Given the description of an element on the screen output the (x, y) to click on. 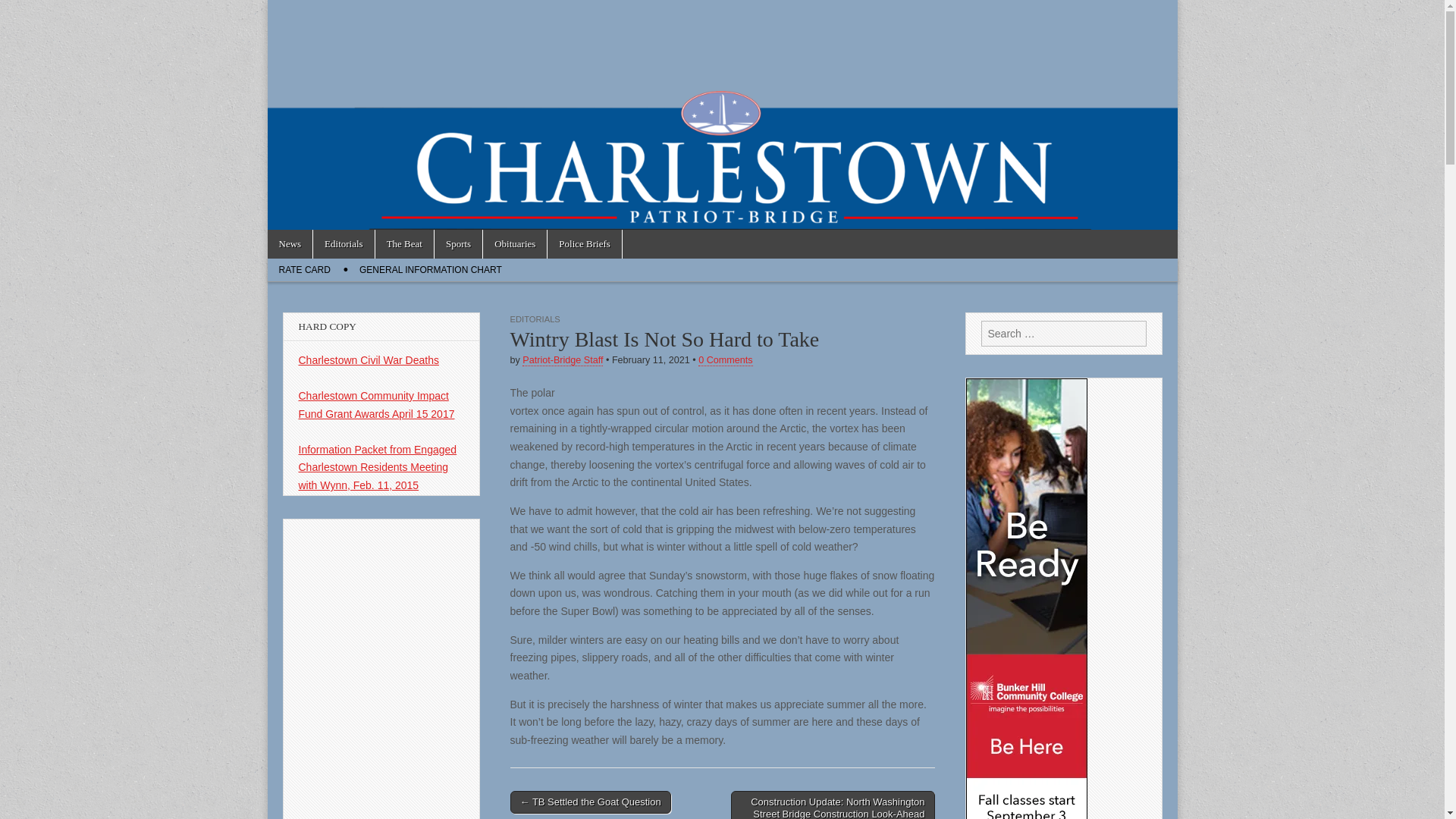
0 Comments (725, 360)
The Beat (404, 244)
Search (23, 12)
Obituaries (515, 244)
News (289, 244)
Editorials (343, 244)
Sports (457, 244)
Charlestown Community Impact Fund Grant Awards April 15 2017 (376, 404)
